Given the description of an element on the screen output the (x, y) to click on. 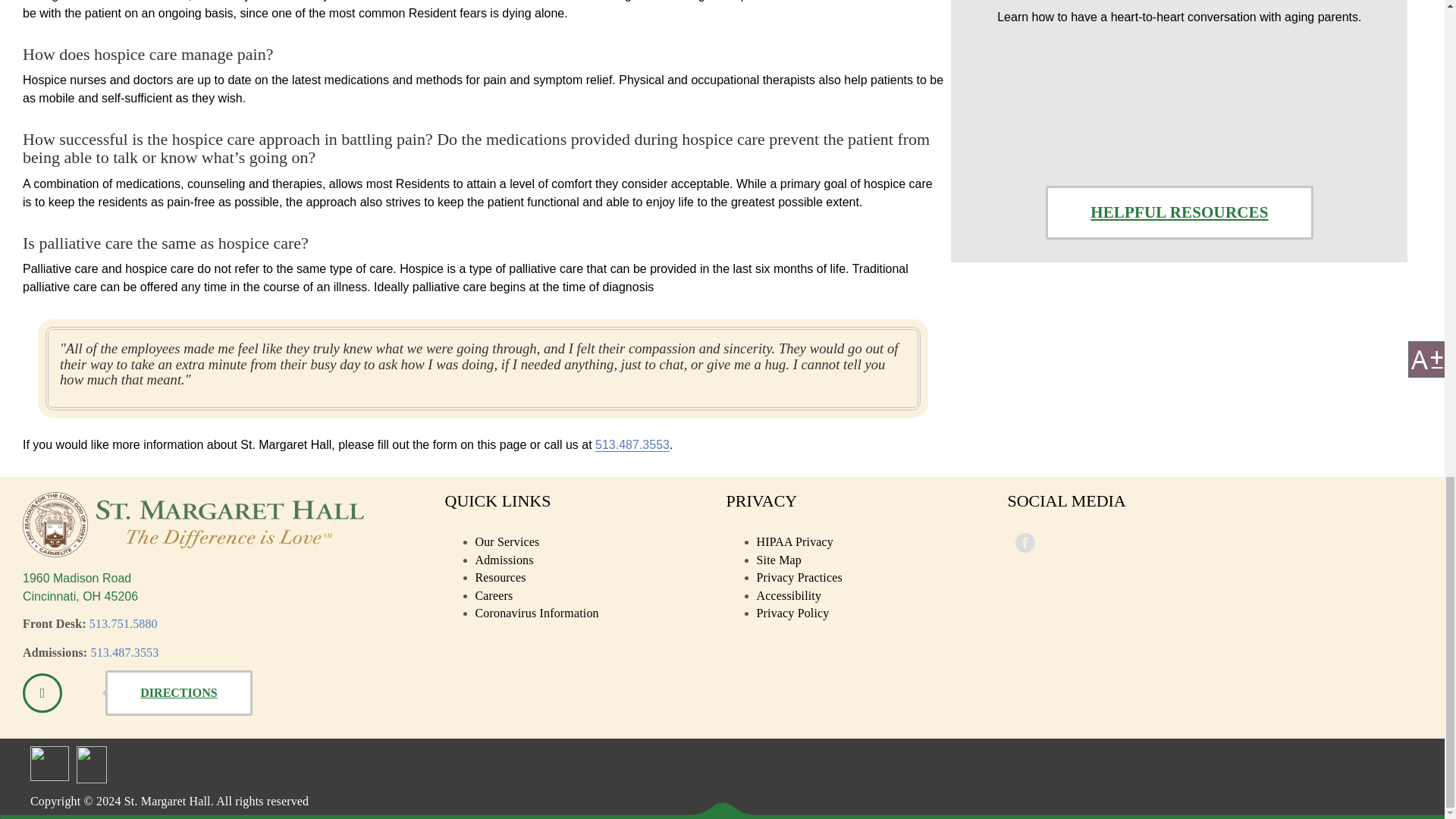
St Margaret Hall Driving Directions (42, 692)
St Margaret Hall Driving Directions (177, 692)
